Given the description of an element on the screen output the (x, y) to click on. 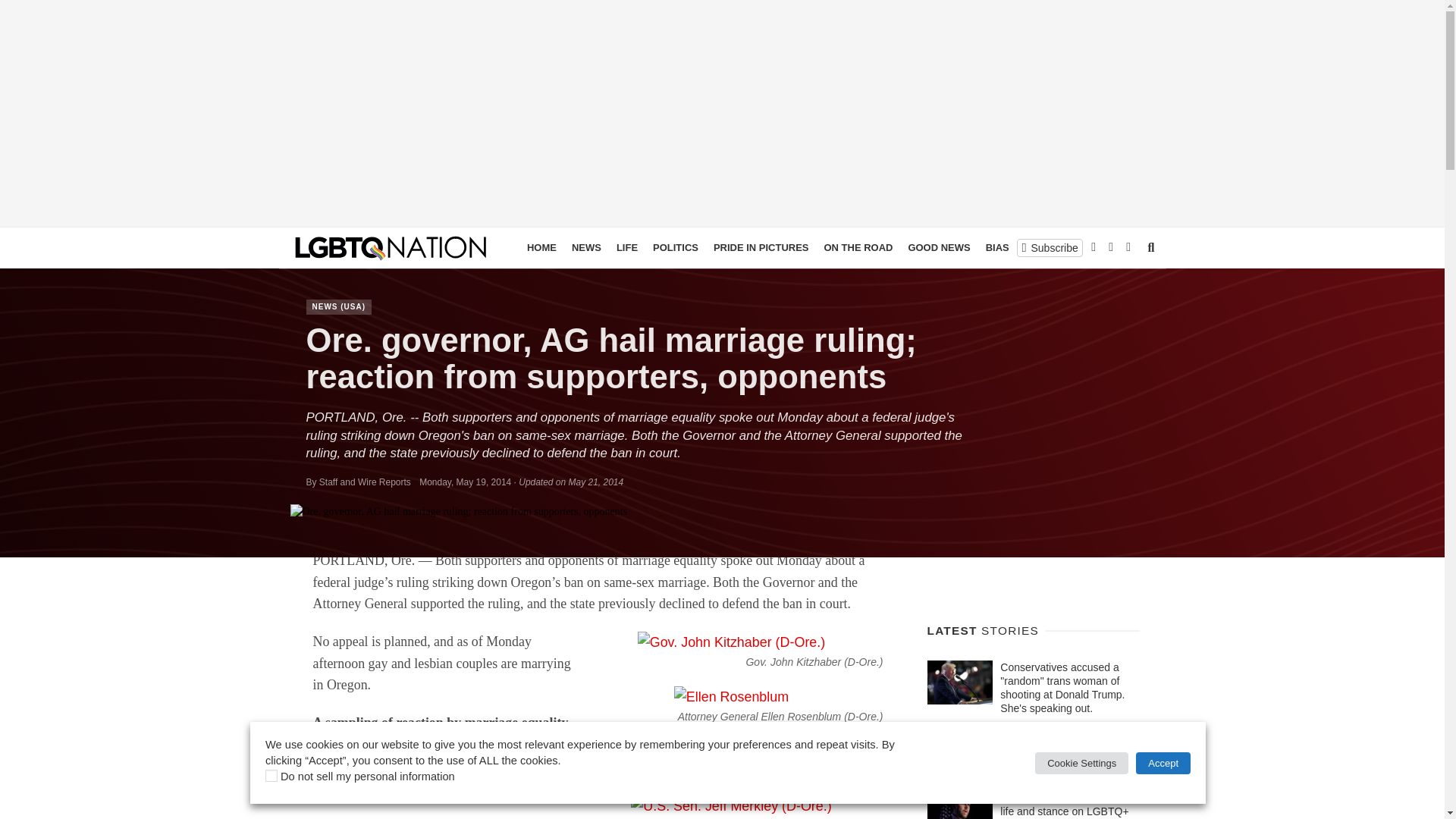
NEWS (586, 247)
GOOD NEWS (937, 247)
Subscribe (1049, 247)
ON THE ROAD (857, 247)
HOME (541, 247)
LIFE (626, 247)
on (271, 775)
PRIDE IN PICTURES (761, 247)
COMMENTARY (1097, 247)
Tina Kotek (838, 770)
POLITICS (675, 247)
BIAS WATCH (1016, 247)
Monday, May 19, 2014 pm31 15:00:26 (465, 481)
